Given the description of an element on the screen output the (x, y) to click on. 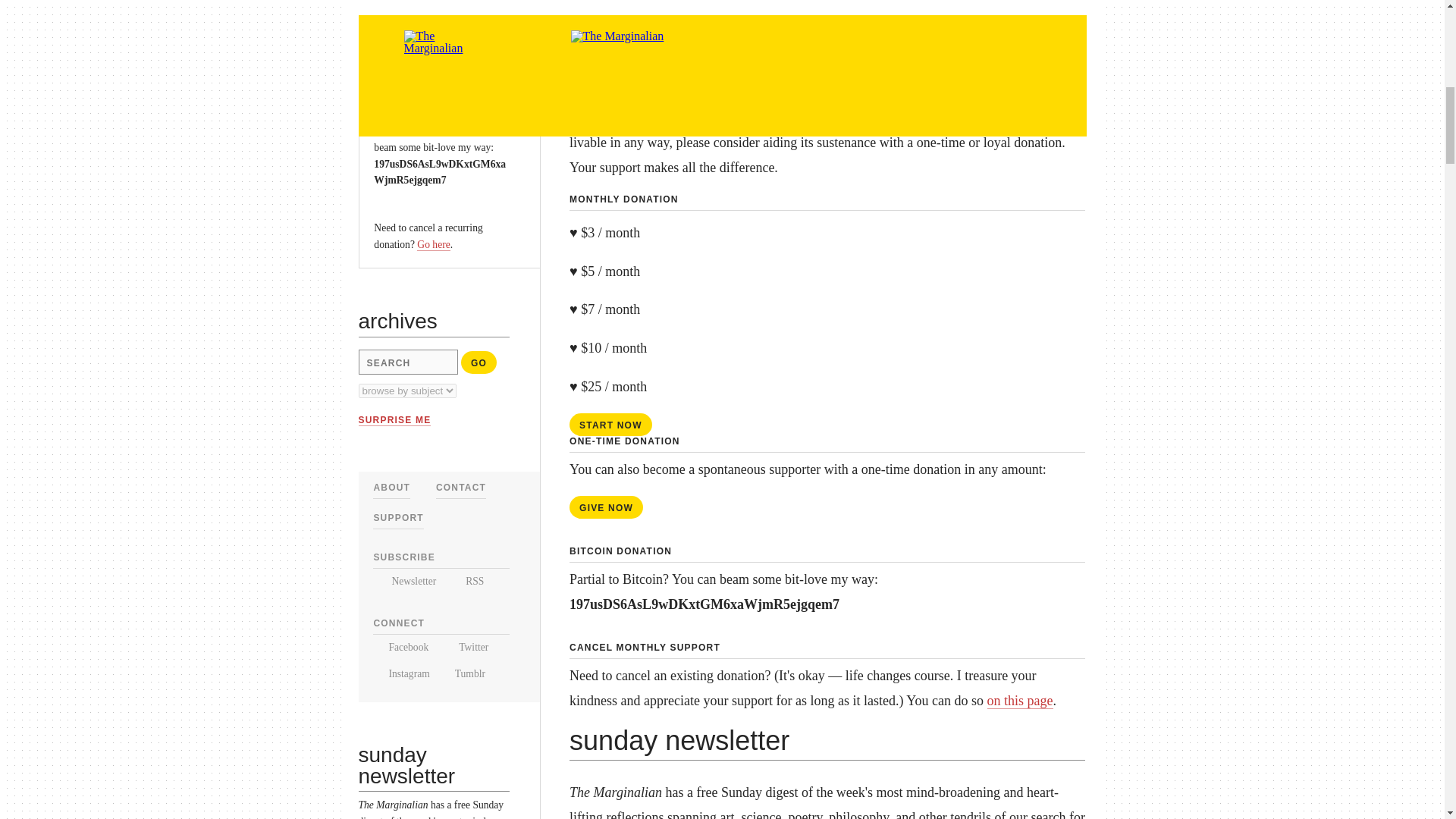
SUPPORT (397, 517)
GIVE NOW (410, 53)
RSS (466, 581)
Go (478, 362)
Newsletter (403, 581)
CONTACT (460, 487)
ABOUT (391, 487)
Twitter (464, 646)
Go (478, 362)
Tumblr (464, 673)
